Given the description of an element on the screen output the (x, y) to click on. 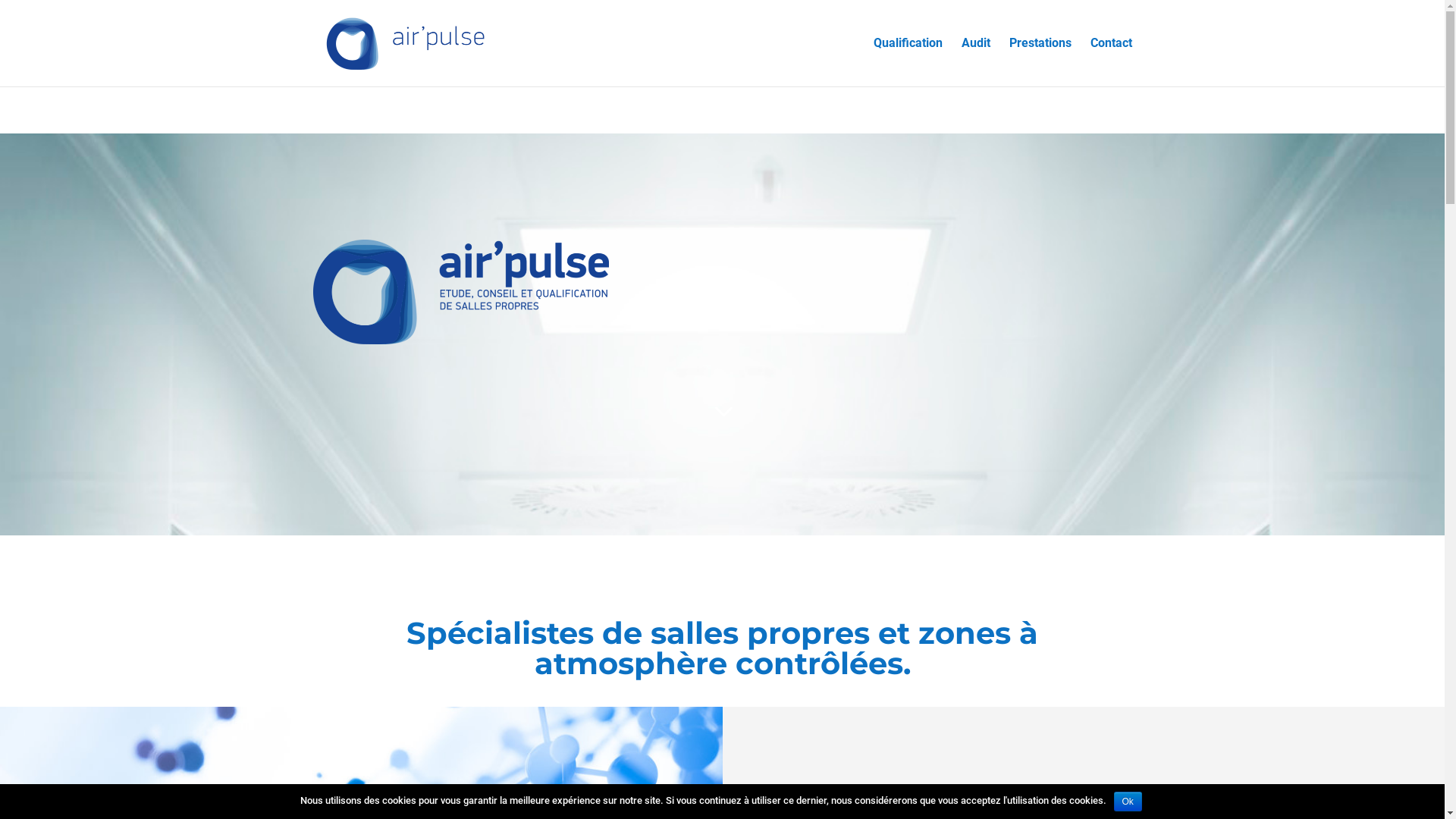
Prestations Element type: text (1039, 61)
Contact Element type: text (1111, 61)
3 Element type: text (721, 409)
Ok Element type: text (1127, 801)
Audit Element type: text (975, 61)
Qualification Element type: text (907, 61)
